Given the description of an element on the screen output the (x, y) to click on. 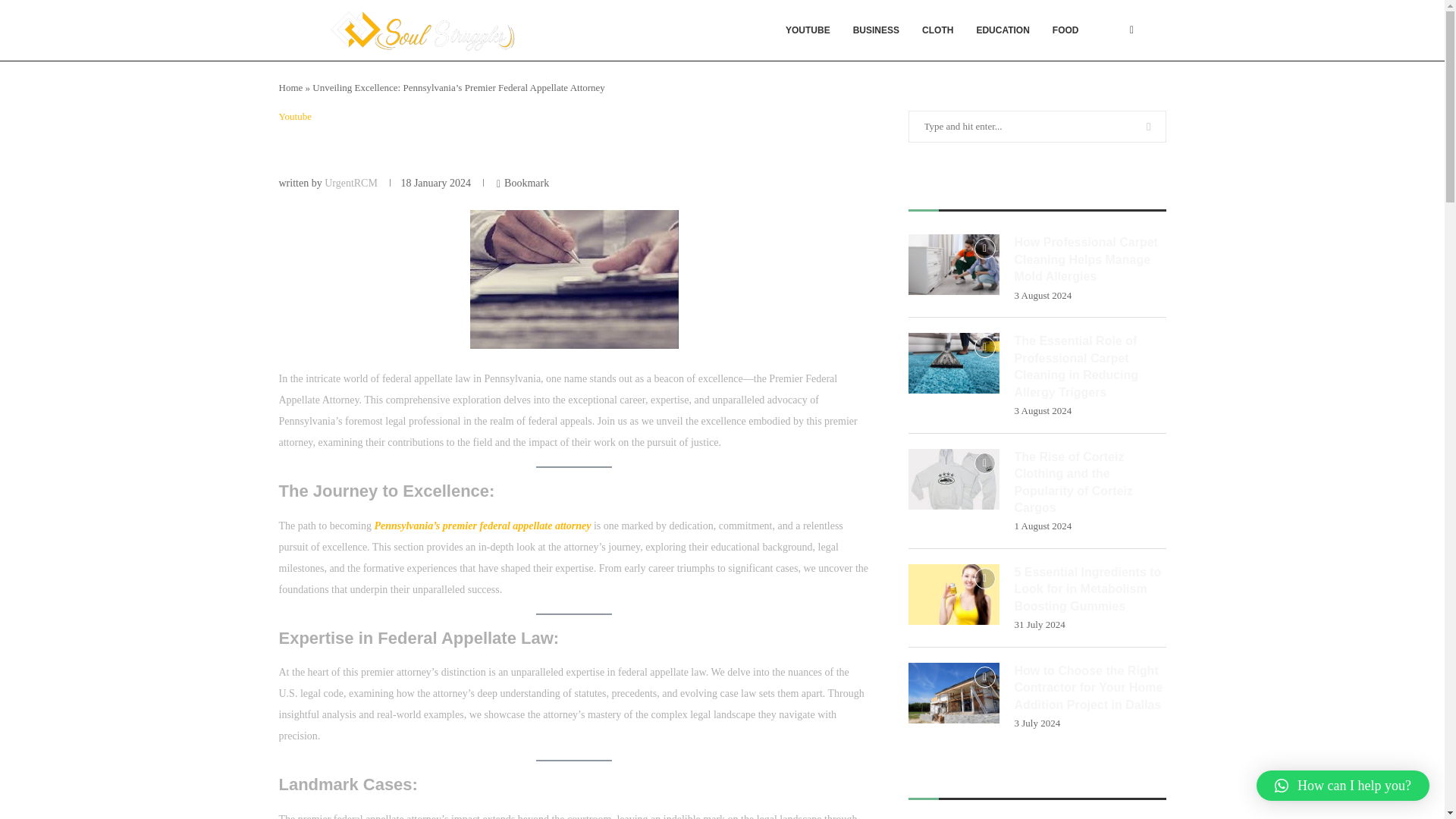
YOUTUBE (807, 30)
EDUCATION (1002, 30)
Bookmark (522, 183)
BUSINESS (876, 30)
UrgentRCM (350, 183)
Home (290, 87)
Youtube (295, 116)
